Given the description of an element on the screen output the (x, y) to click on. 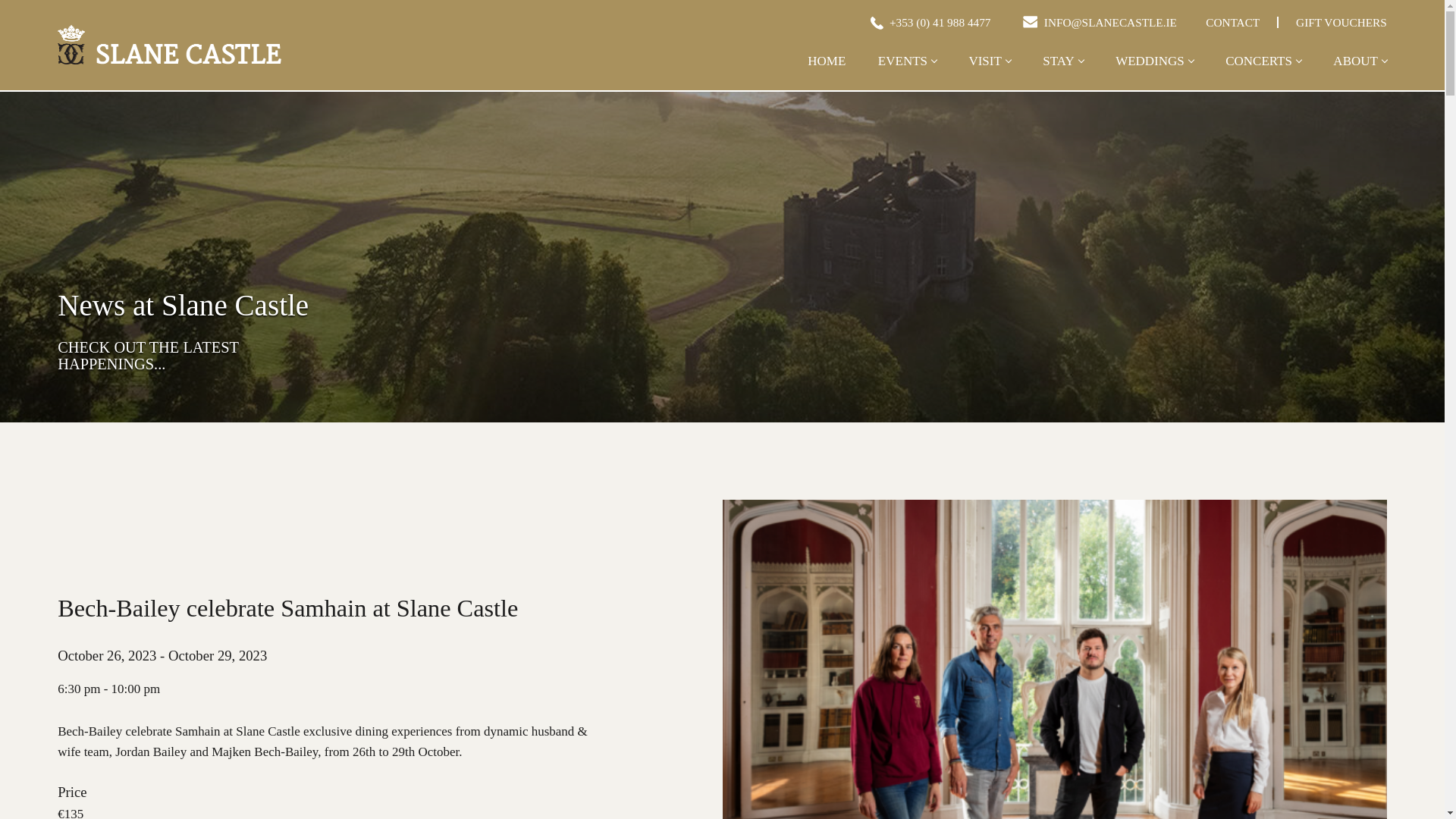
WEDDINGS (1154, 72)
EMAIL (1030, 21)
ABOUT (1359, 72)
HOME (826, 72)
CONCERTS (1263, 72)
VISIT (989, 72)
EVENTS (906, 72)
Bech-Bailey celebrate Samhain at Slane Castle (169, 44)
STAY (1062, 72)
PHONE (875, 21)
